Given the description of an element on the screen output the (x, y) to click on. 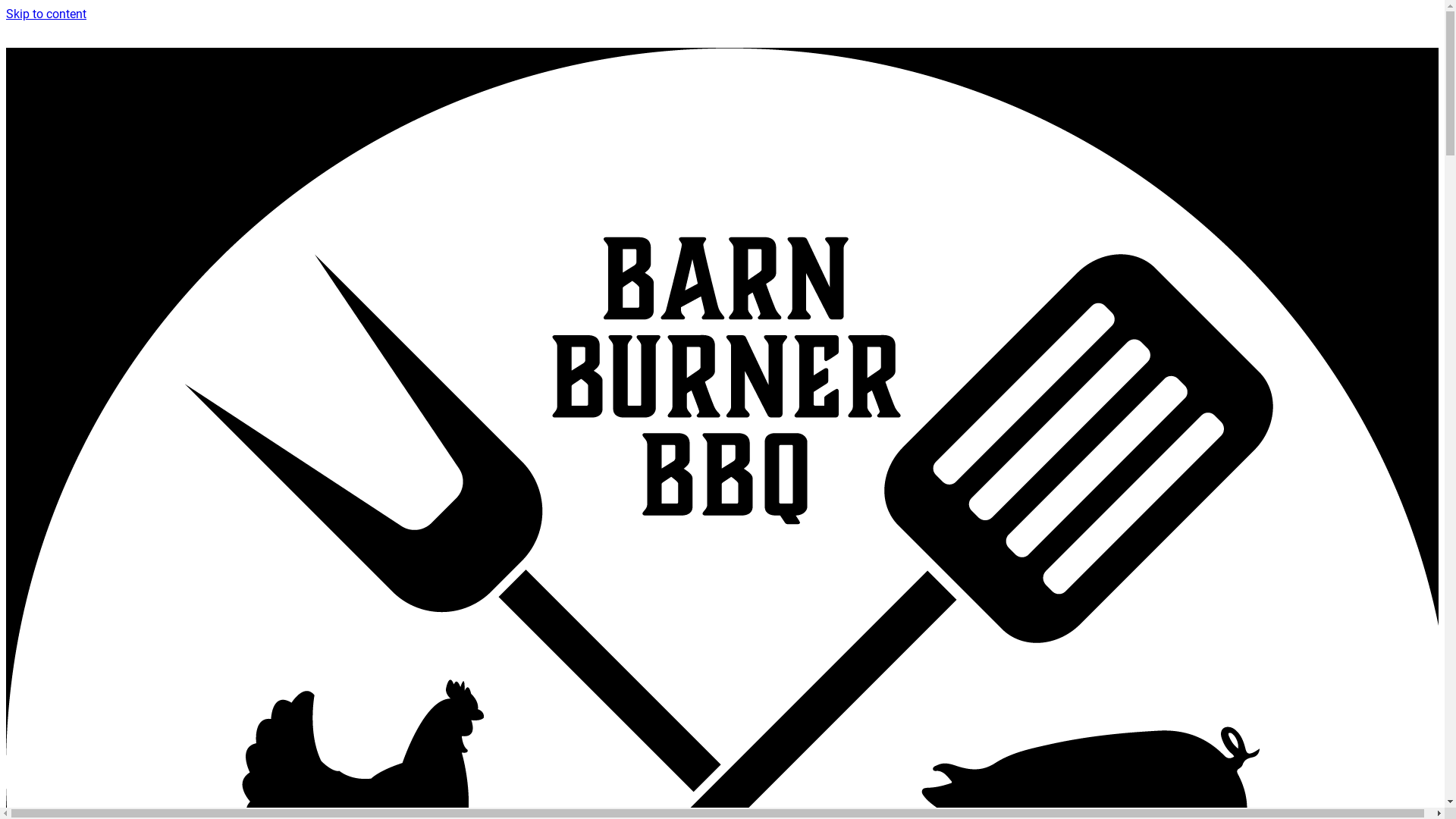
Skip to content Element type: text (46, 13)
